Given the description of an element on the screen output the (x, y) to click on. 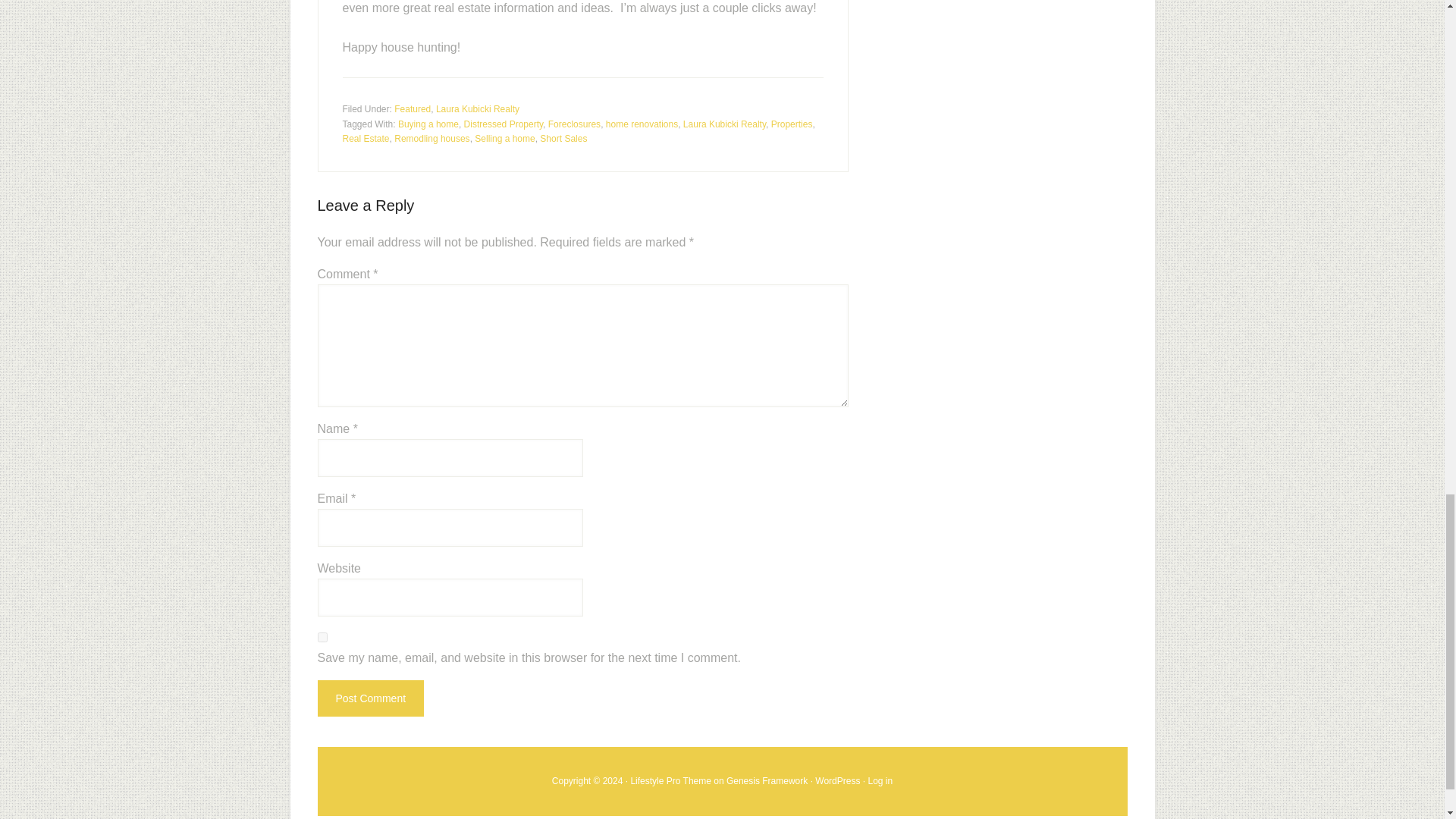
WordPress (837, 780)
Lifestyle Pro Theme (670, 780)
Real Estate (366, 138)
Post Comment (370, 698)
Genesis Framework (767, 780)
Featured (412, 109)
yes (321, 636)
Distressed Property (503, 123)
Short Sales (563, 138)
Properties (791, 123)
Selling a home (504, 138)
Foreclosures (573, 123)
Post Comment (370, 698)
Buying a home (427, 123)
Log in (879, 780)
